Given the description of an element on the screen output the (x, y) to click on. 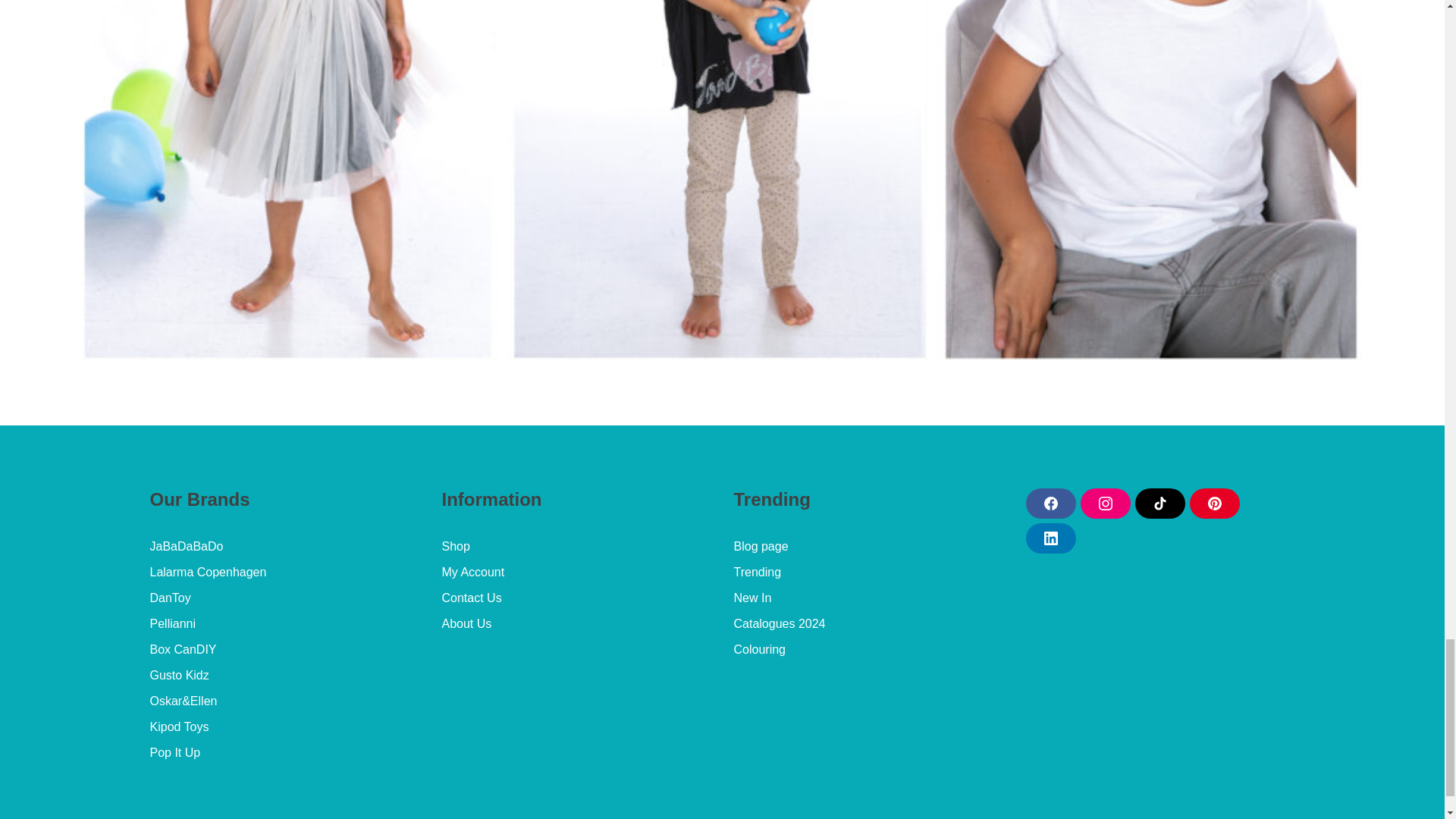
TikTok (1159, 503)
Instagram (1104, 503)
Facebook (1050, 503)
Pinterest (1214, 503)
Linkedin (1050, 538)
